Given the description of an element on the screen output the (x, y) to click on. 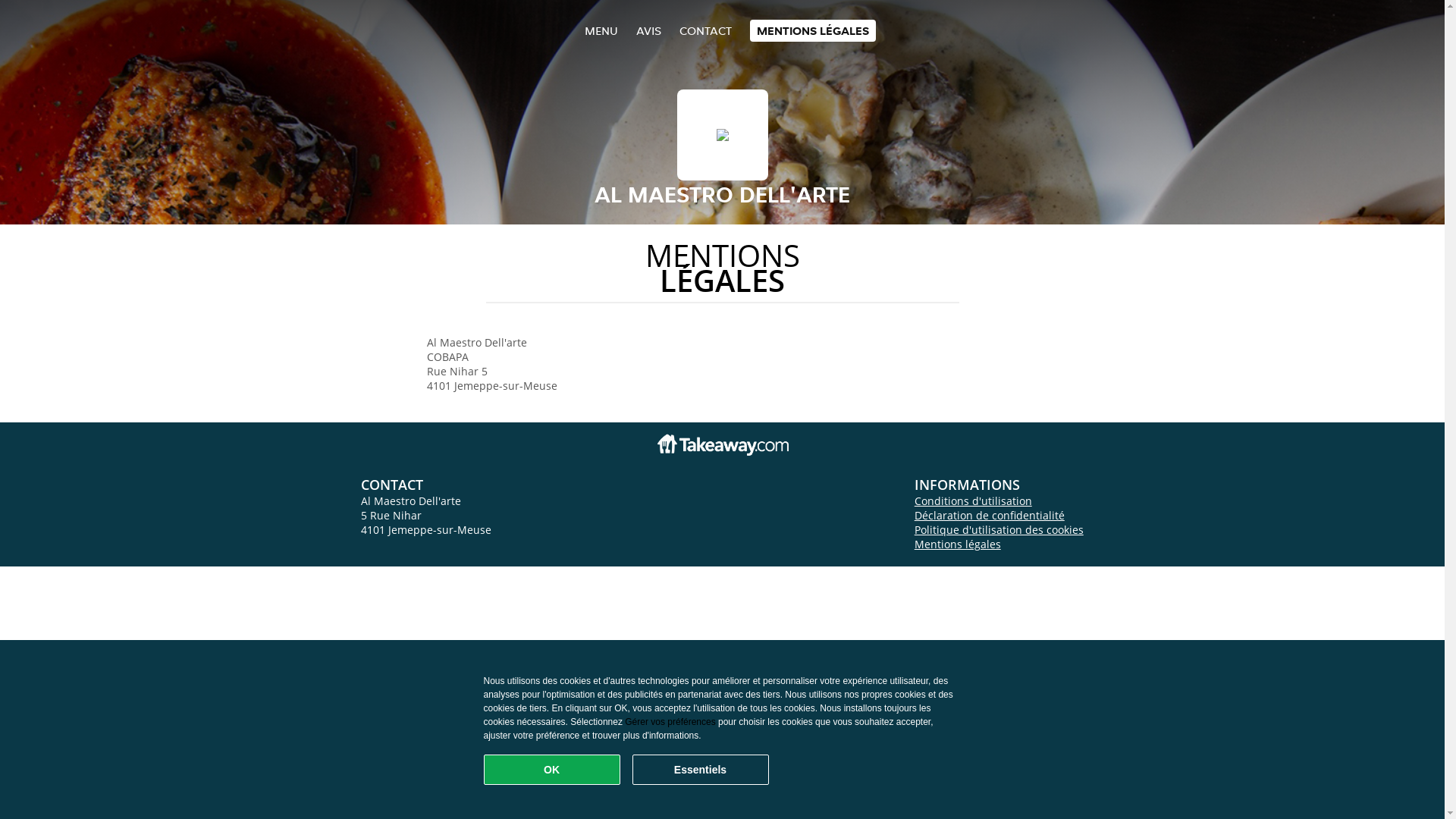
Essentiels Element type: text (700, 769)
Conditions d'utilisation Element type: text (973, 500)
Politique d'utilisation des cookies Element type: text (998, 529)
CONTACT Element type: text (705, 30)
MENU Element type: text (600, 30)
OK Element type: text (551, 769)
AVIS Element type: text (647, 30)
